Given the description of an element on the screen output the (x, y) to click on. 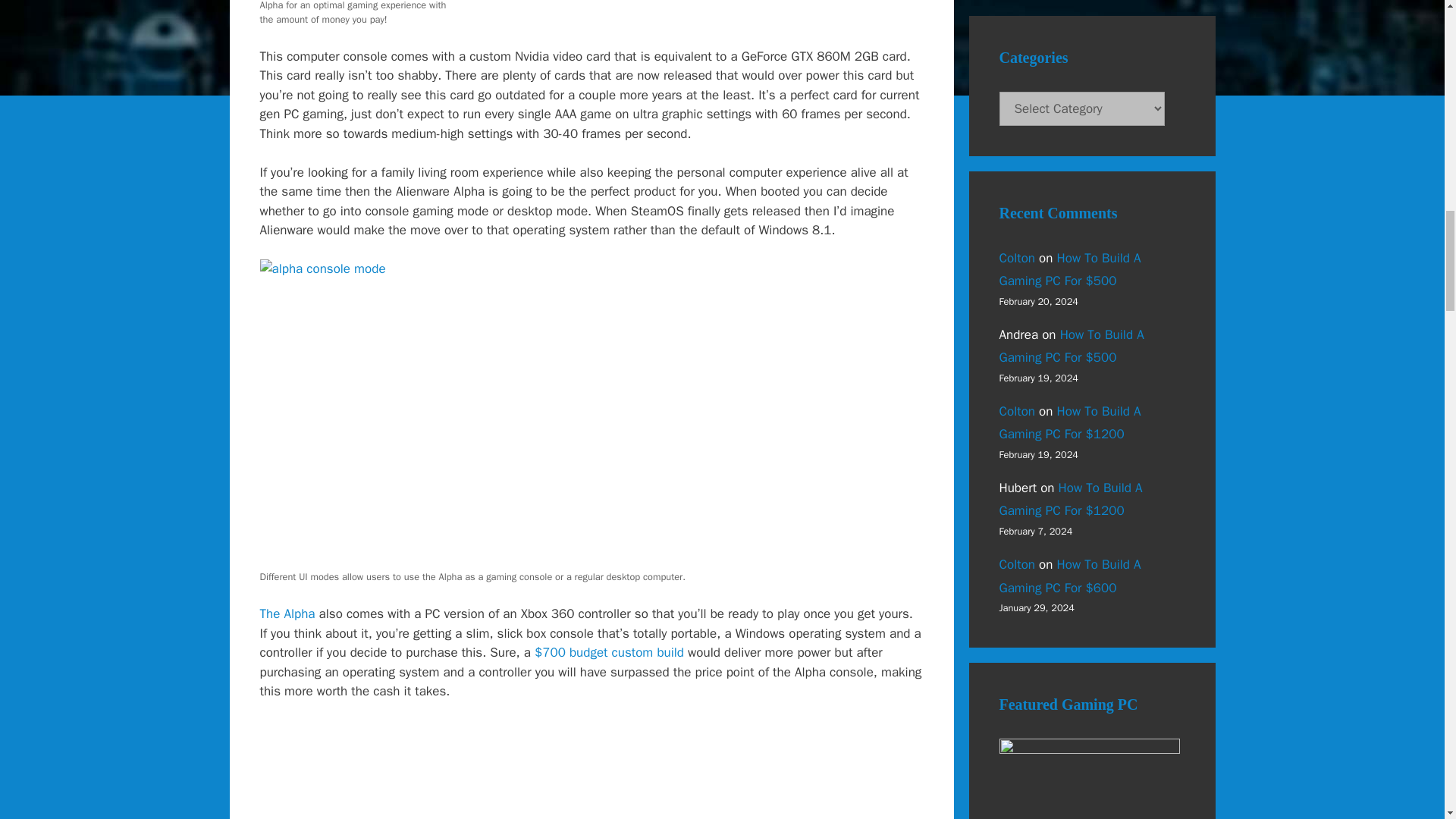
The Alpha (286, 613)
